Given the description of an element on the screen output the (x, y) to click on. 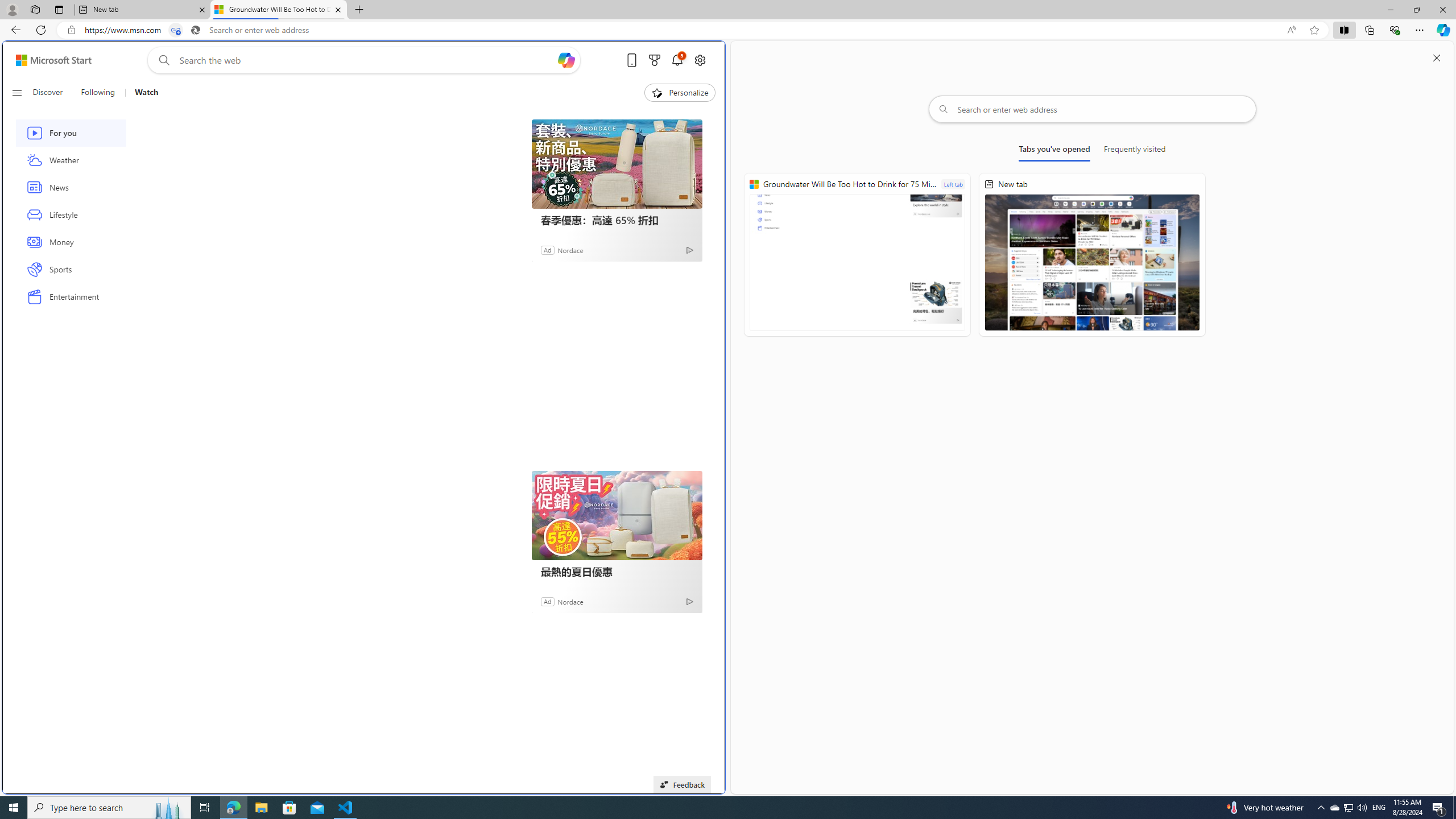
Tabs you've opened (1054, 151)
Search icon (195, 29)
Open navigation menu (16, 92)
Search or enter web address (1092, 108)
Skip to footer (46, 59)
